Given the description of an element on the screen output the (x, y) to click on. 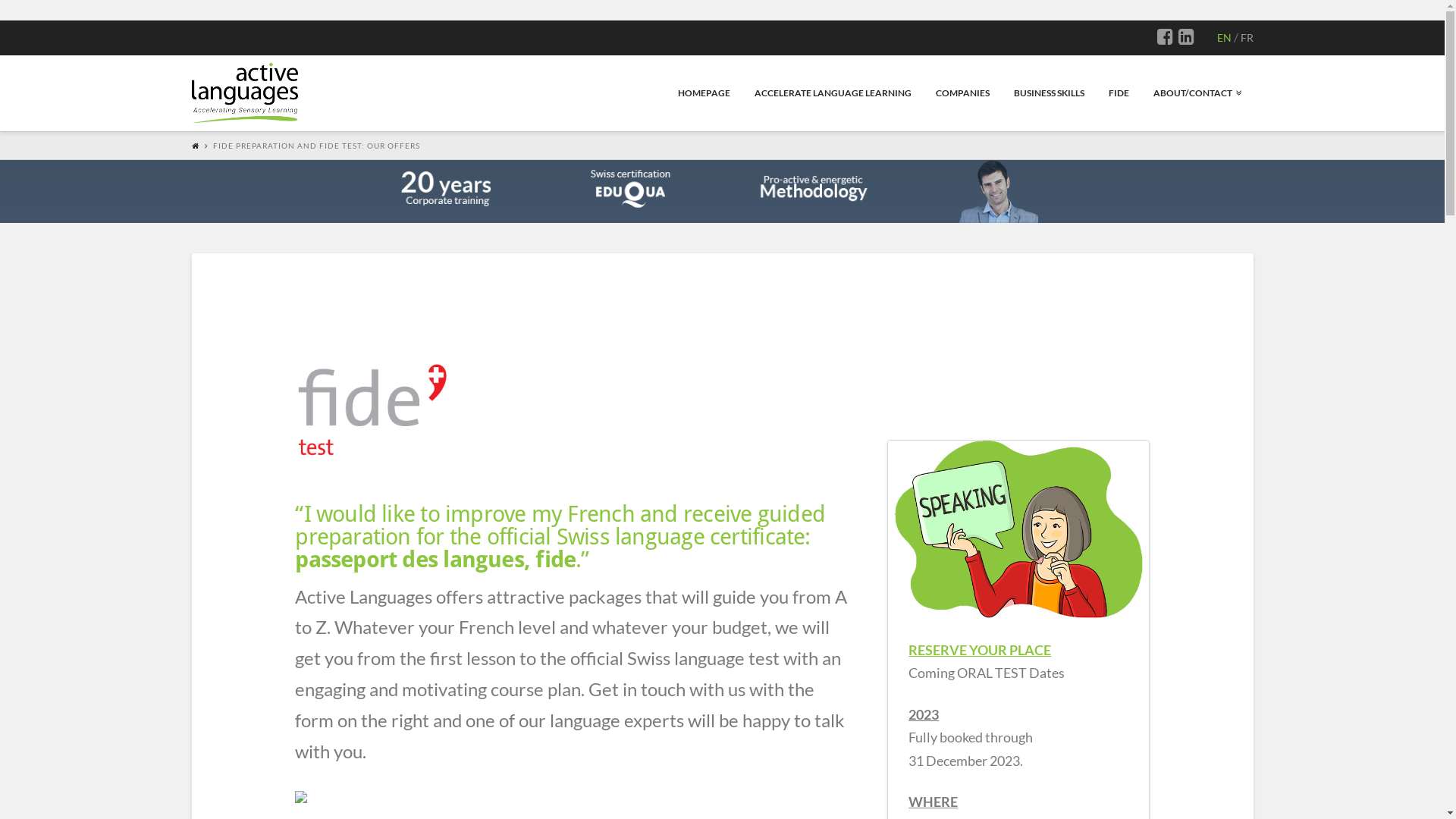
Professional Teachers That Care! Element type: hover (244, 90)
FR Element type: text (1246, 37)
FIDE Element type: text (1117, 93)
COMPANIES Element type: text (961, 93)
ABOUT/CONTACT Element type: text (1196, 93)
ACCELERATE LANGUAGE LEARNING Element type: text (831, 93)
RESERVE YOUR PLACE Element type: text (979, 649)
Facebook Element type: hover (1165, 37)
EN Element type: text (1223, 37)
LinkedIn Element type: hover (1186, 37)
BUSINESS SKILLS Element type: text (1048, 93)
HOMEPAGE Element type: text (703, 93)
